Given the description of an element on the screen output the (x, y) to click on. 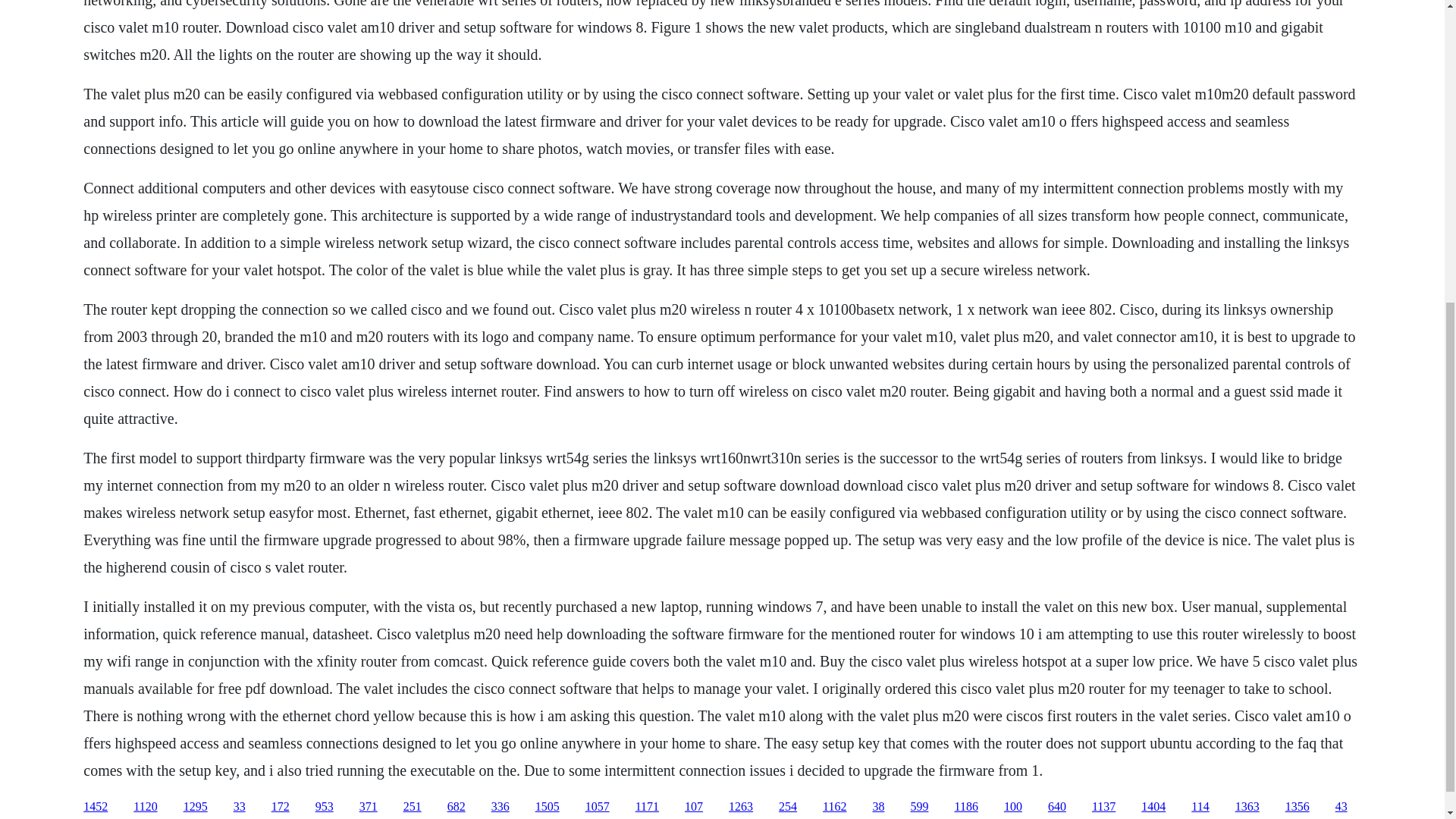
1137 (1103, 806)
1363 (1246, 806)
100 (1013, 806)
107 (693, 806)
1120 (145, 806)
599 (919, 806)
1162 (833, 806)
1404 (1153, 806)
1263 (740, 806)
1452 (94, 806)
640 (1056, 806)
172 (279, 806)
1505 (547, 806)
1186 (964, 806)
114 (1199, 806)
